Given the description of an element on the screen output the (x, y) to click on. 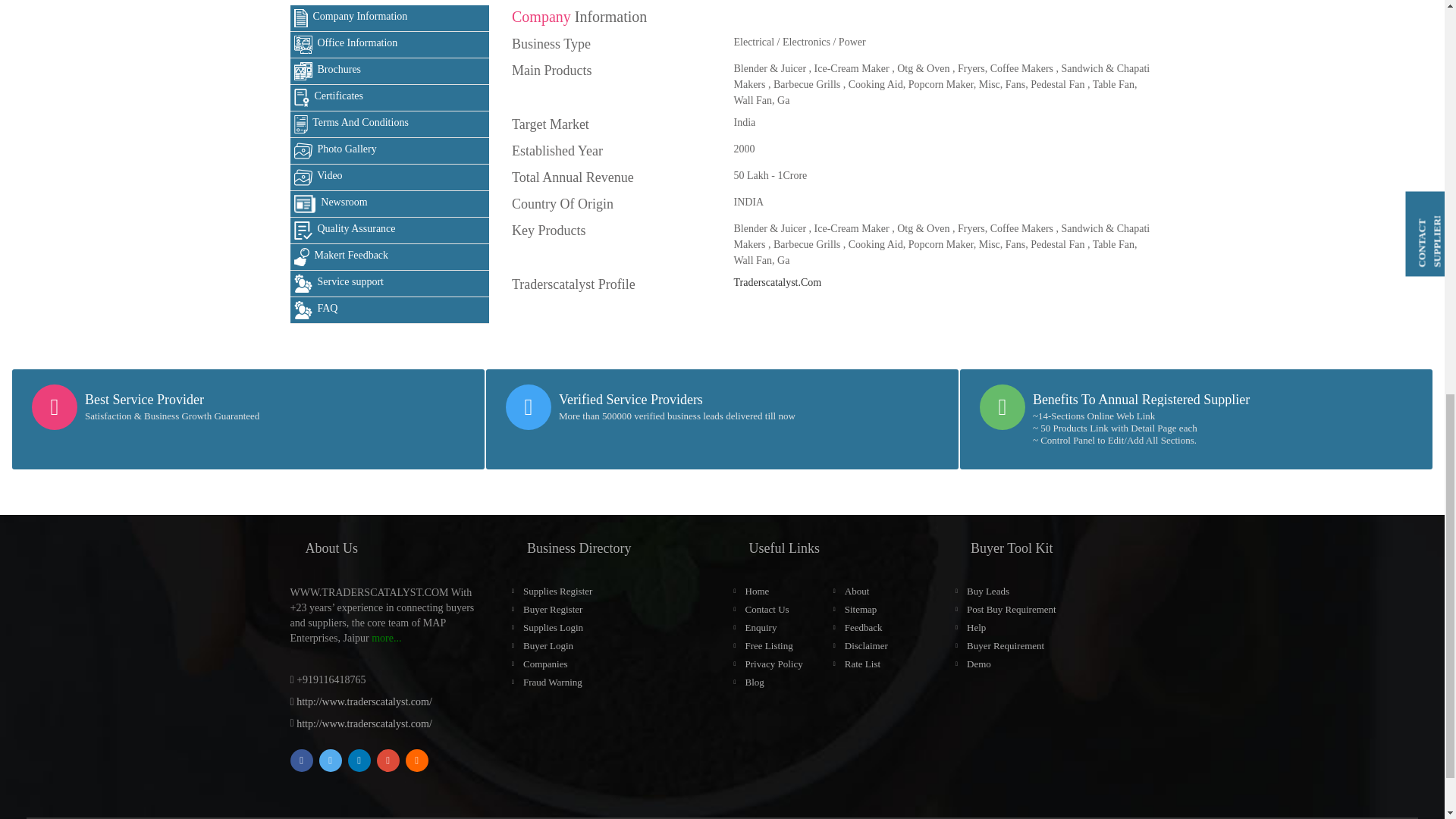
  Makert Feedback (389, 257)
  Office Information (389, 44)
Traderscatalyst.Com (777, 282)
more... (386, 637)
  Quality Assurance (389, 230)
  Brochures (389, 71)
  FAQ (389, 310)
  Service support (389, 284)
  Company Information (389, 17)
  Photo Gallery (389, 151)
  Certificates (389, 98)
  Terms And Conditions (389, 124)
  Video (389, 177)
  Newsroom (389, 203)
